Given the description of an element on the screen output the (x, y) to click on. 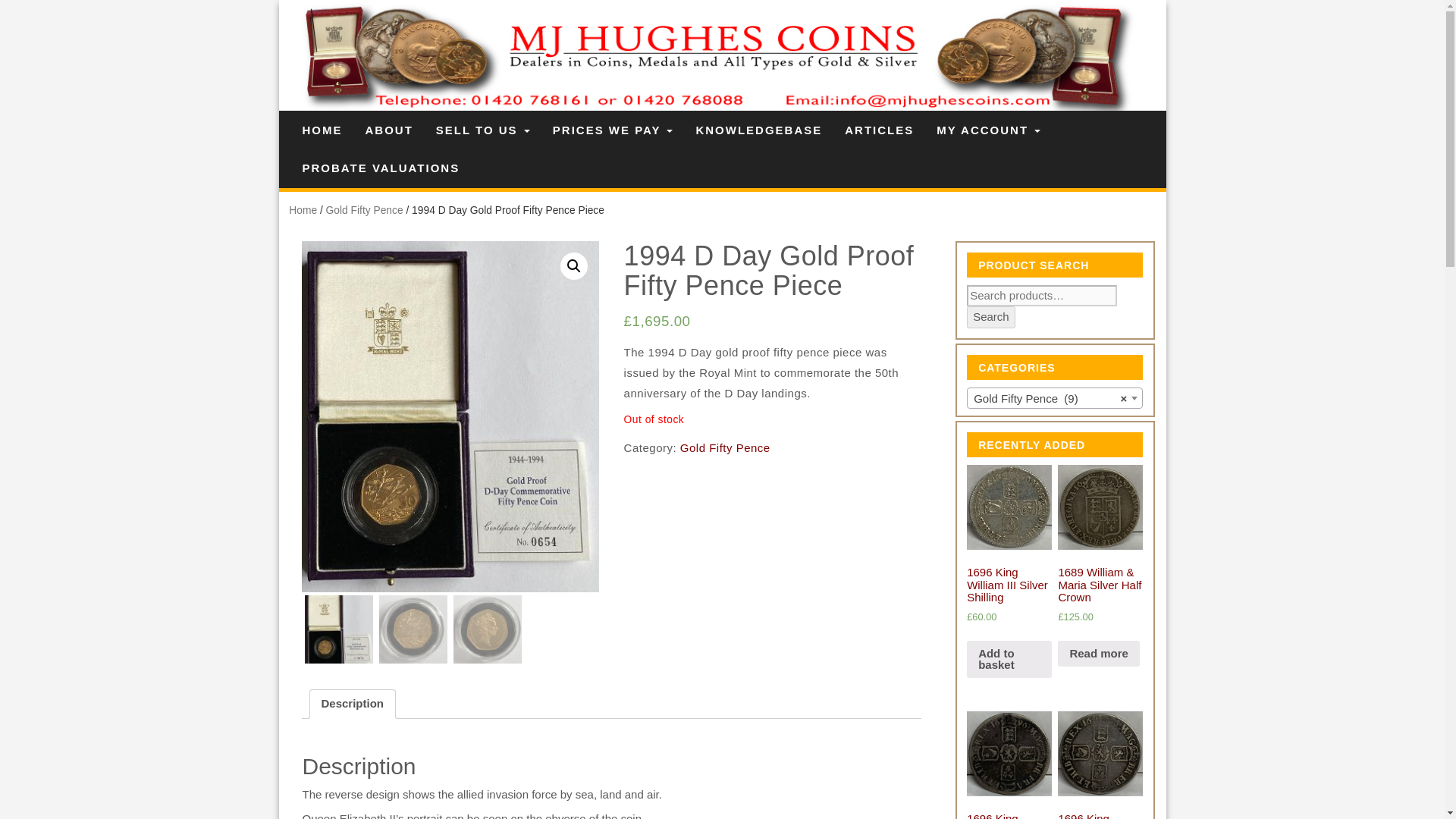
ABOUT (388, 130)
PRICES WE PAY (612, 130)
ARTICLES (878, 130)
KNOWLEDGEBASE (758, 130)
Articles (878, 130)
Prices We Pay (612, 130)
MY ACCOUNT (987, 130)
Gold Fifty Pence (364, 210)
PROBATE VALUATIONS (381, 168)
SELL TO US (483, 130)
About (388, 130)
Home (302, 210)
Description (352, 704)
HOME (322, 130)
KnowledgeBase (758, 130)
